Given the description of an element on the screen output the (x, y) to click on. 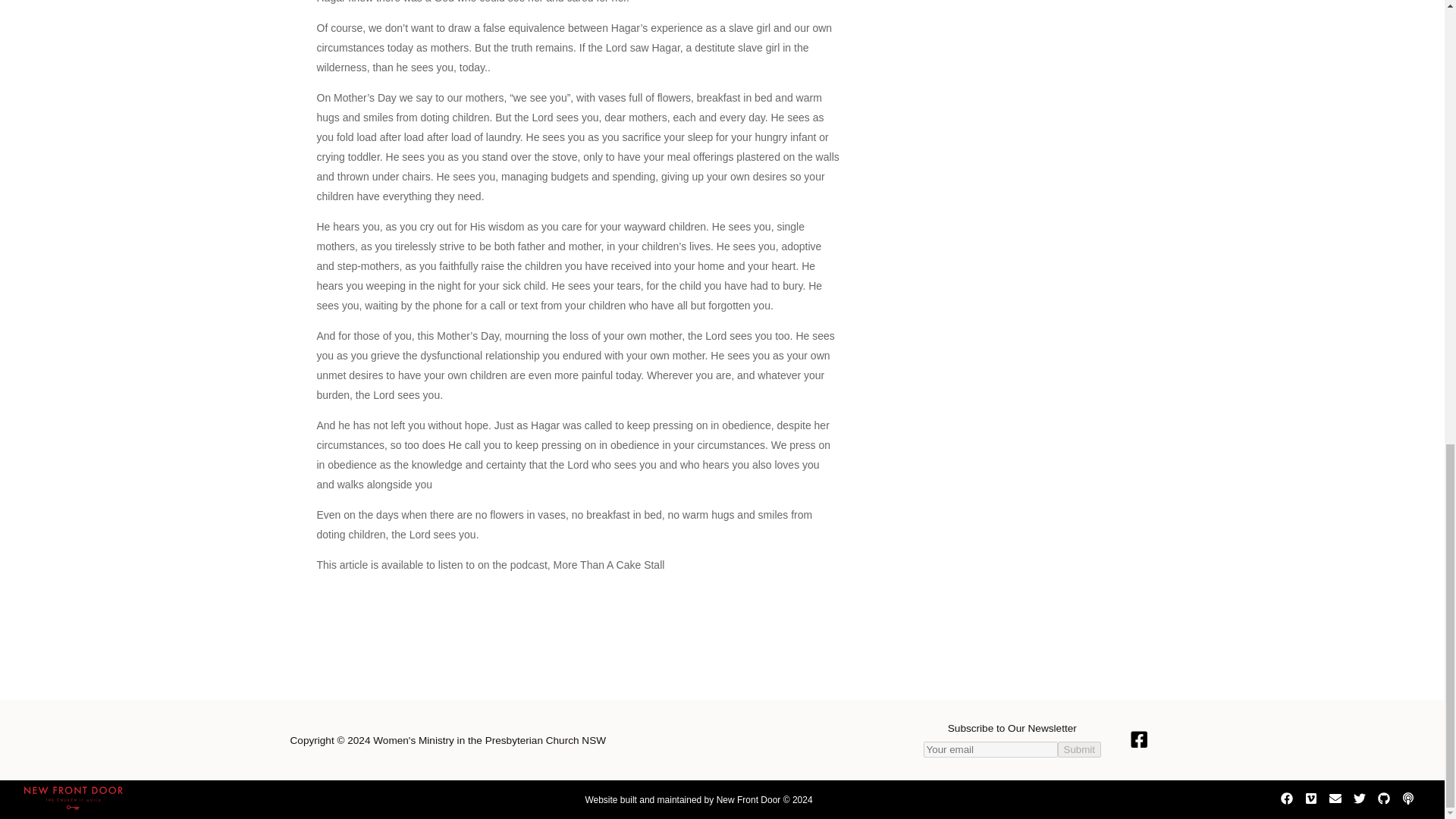
Submit (1079, 749)
Vimeo (1310, 800)
Twitter (1359, 800)
Podcast (1408, 800)
New Front Door (73, 805)
Facebook (1286, 800)
Contact us (1335, 800)
New Front Door (748, 798)
New Front Door (748, 798)
Github (1383, 800)
